Given the description of an element on the screen output the (x, y) to click on. 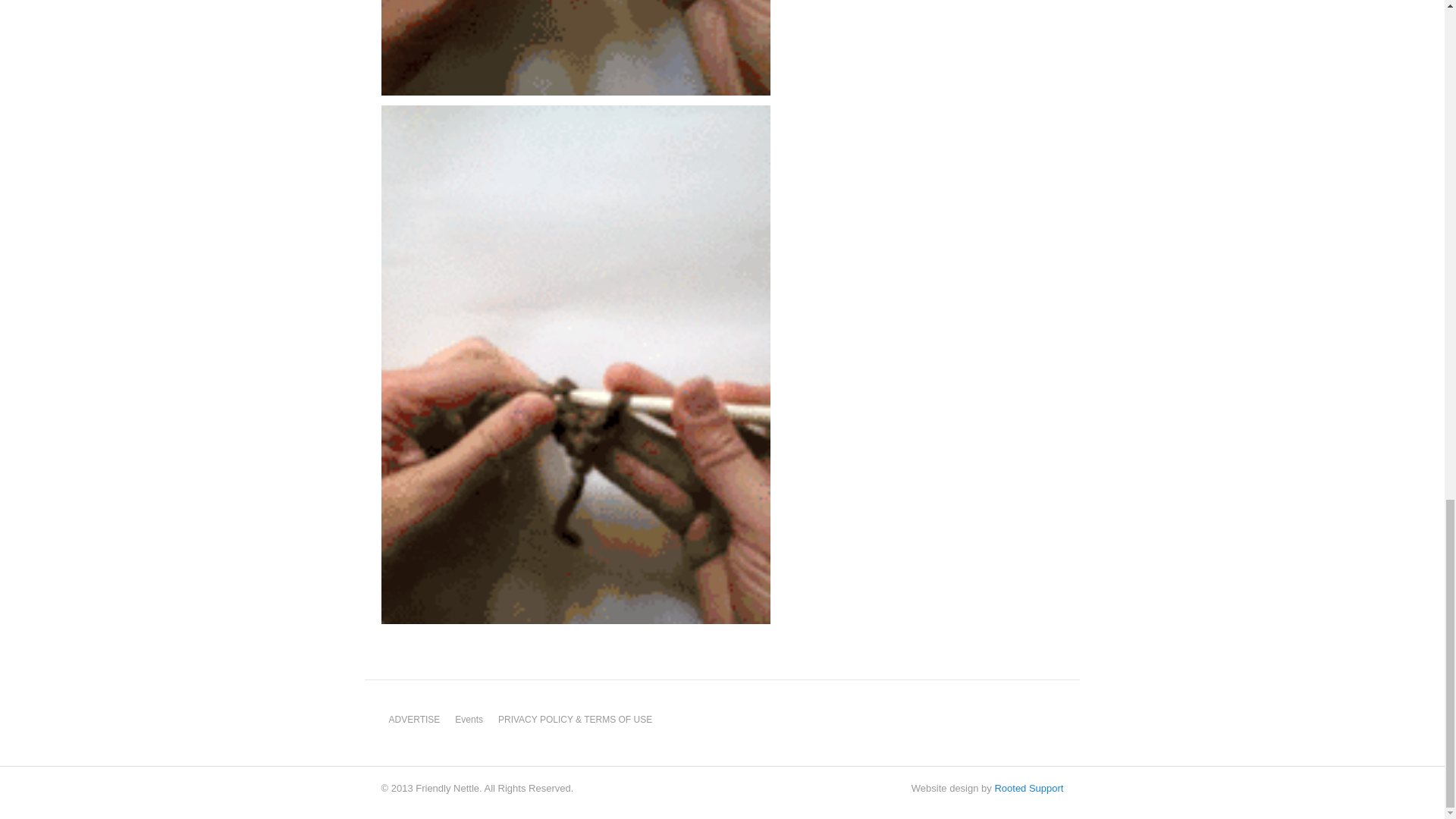
ADVERTISE (413, 719)
Rooted Support (1028, 787)
Events (468, 719)
